Given the description of an element on the screen output the (x, y) to click on. 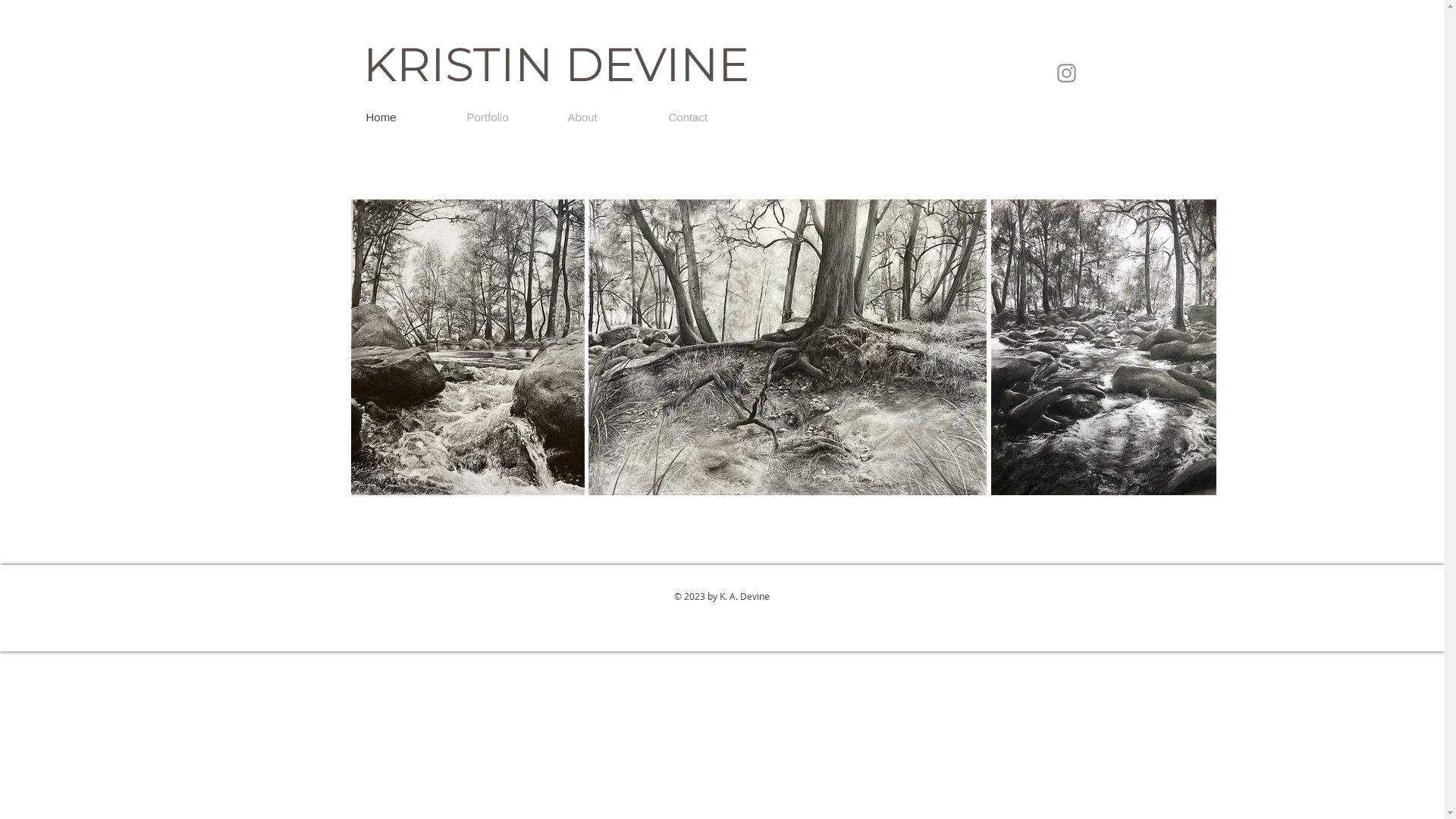
Contact Element type: text (706, 117)
Home Element type: text (404, 117)
BlueHole IV.jpeg Element type: hover (466, 347)
Portfolio Element type: text (505, 117)
About Element type: text (606, 117)
KRISTIN DEVINE Element type: text (556, 64)
